Given the description of an element on the screen output the (x, y) to click on. 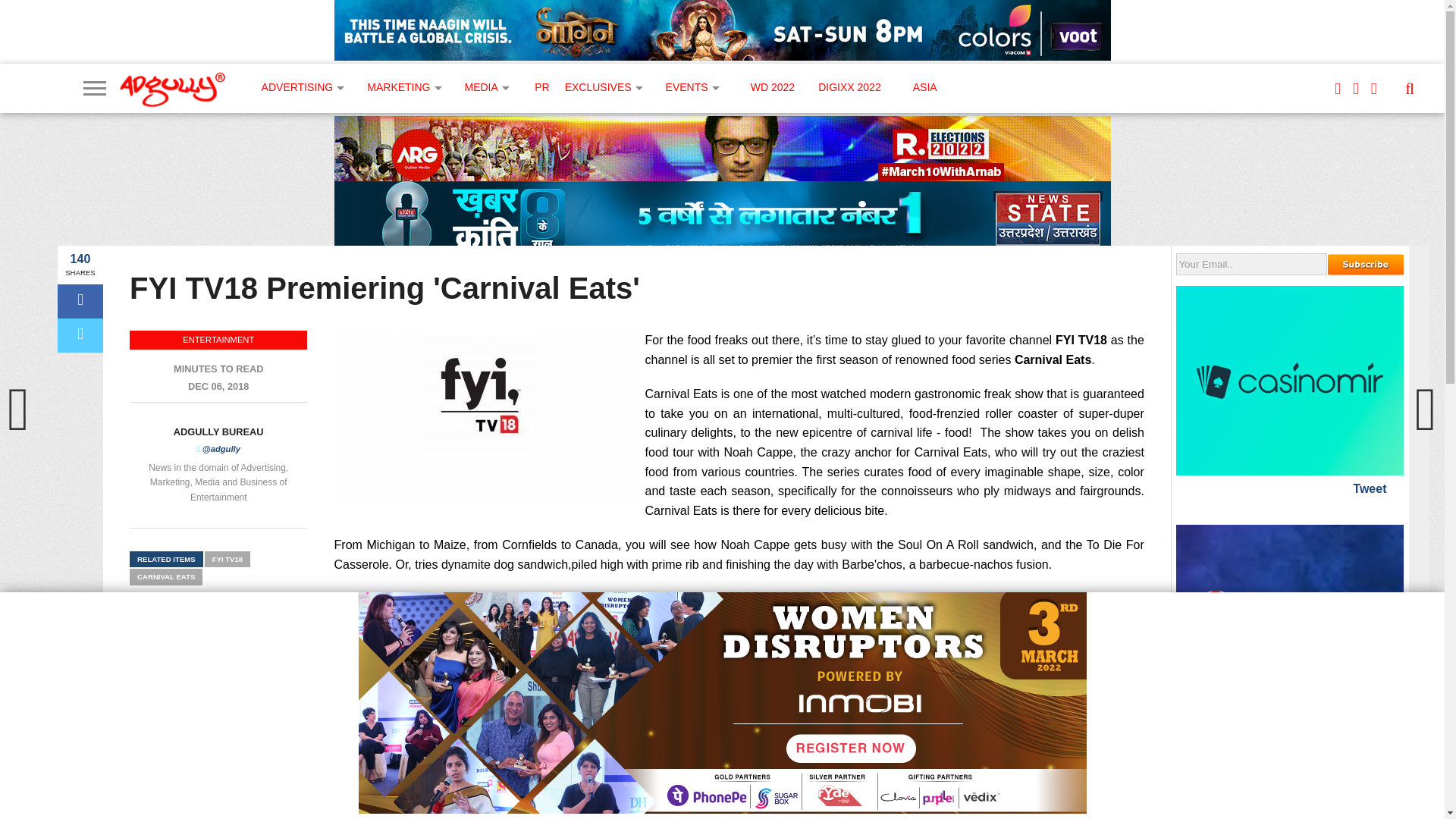
Your Email.. (1251, 264)
Tweet This Post (80, 335)
Share on Facebook (80, 301)
Posts by Adgully Bureau (218, 431)
